Given the description of an element on the screen output the (x, y) to click on. 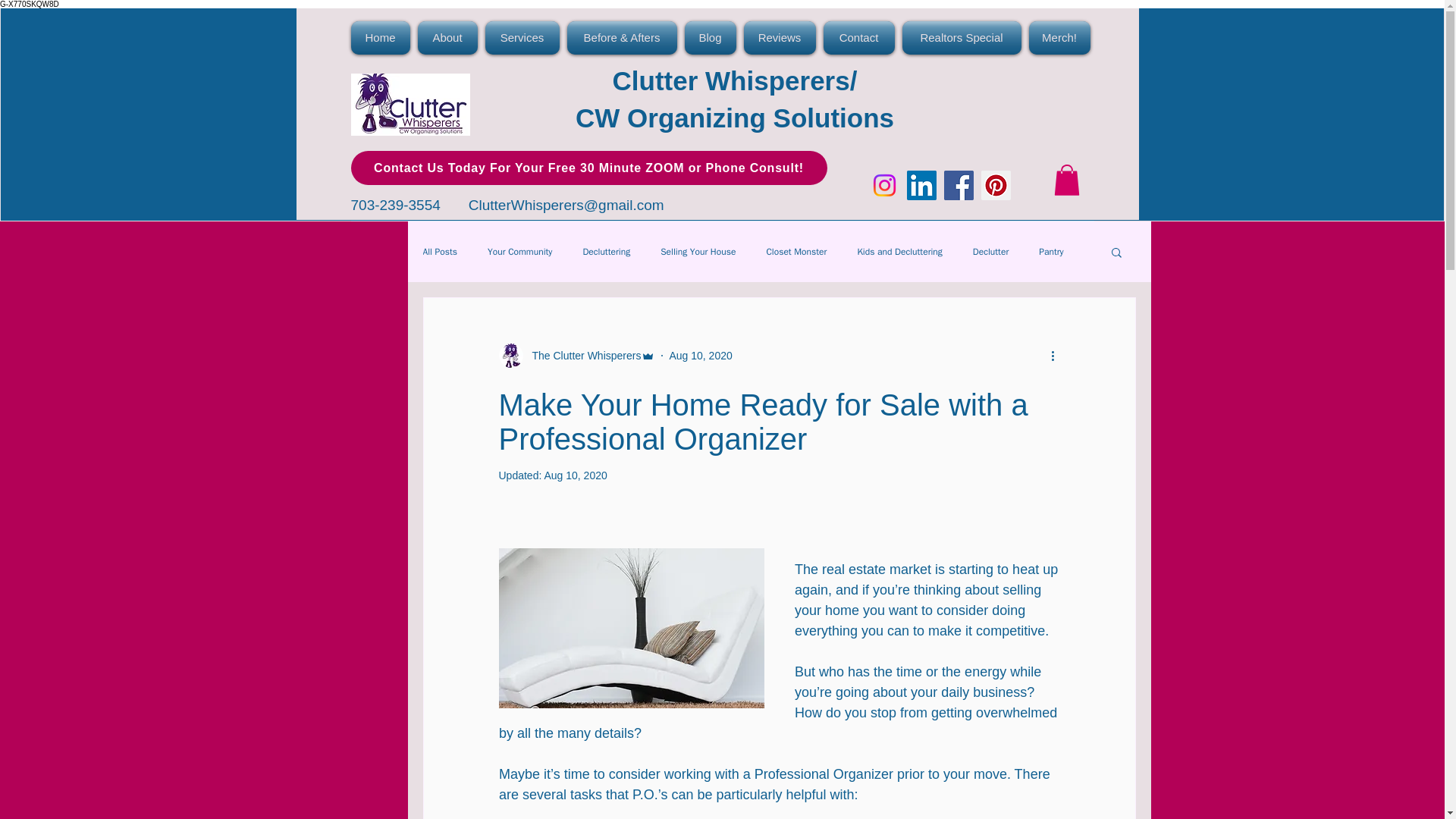
All Posts (440, 251)
Merch! (1057, 37)
The Clutter Whisperers (577, 355)
Declutter (990, 251)
Reviews (779, 37)
Aug 10, 2020 (700, 355)
Declutter and organize your space (409, 104)
Decluttering (606, 251)
Contact (858, 37)
Pantry (1050, 251)
Aug 10, 2020 (575, 475)
About (447, 37)
Blog (710, 37)
Your Community (519, 251)
Pin to Pinterest (460, 493)
